Given the description of an element on the screen output the (x, y) to click on. 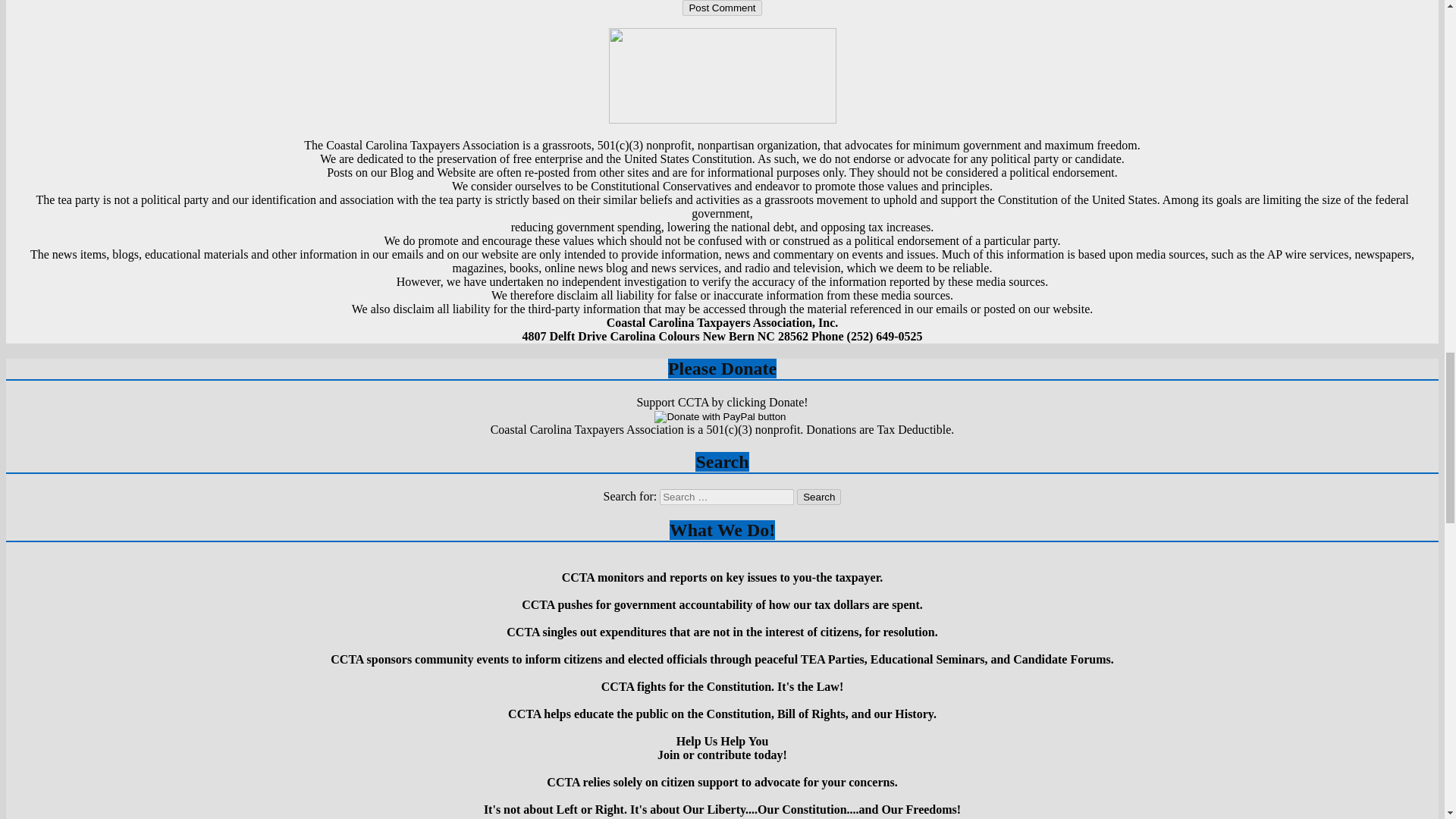
Post Comment (721, 7)
Search (818, 496)
Search (818, 496)
